Given the description of an element on the screen output the (x, y) to click on. 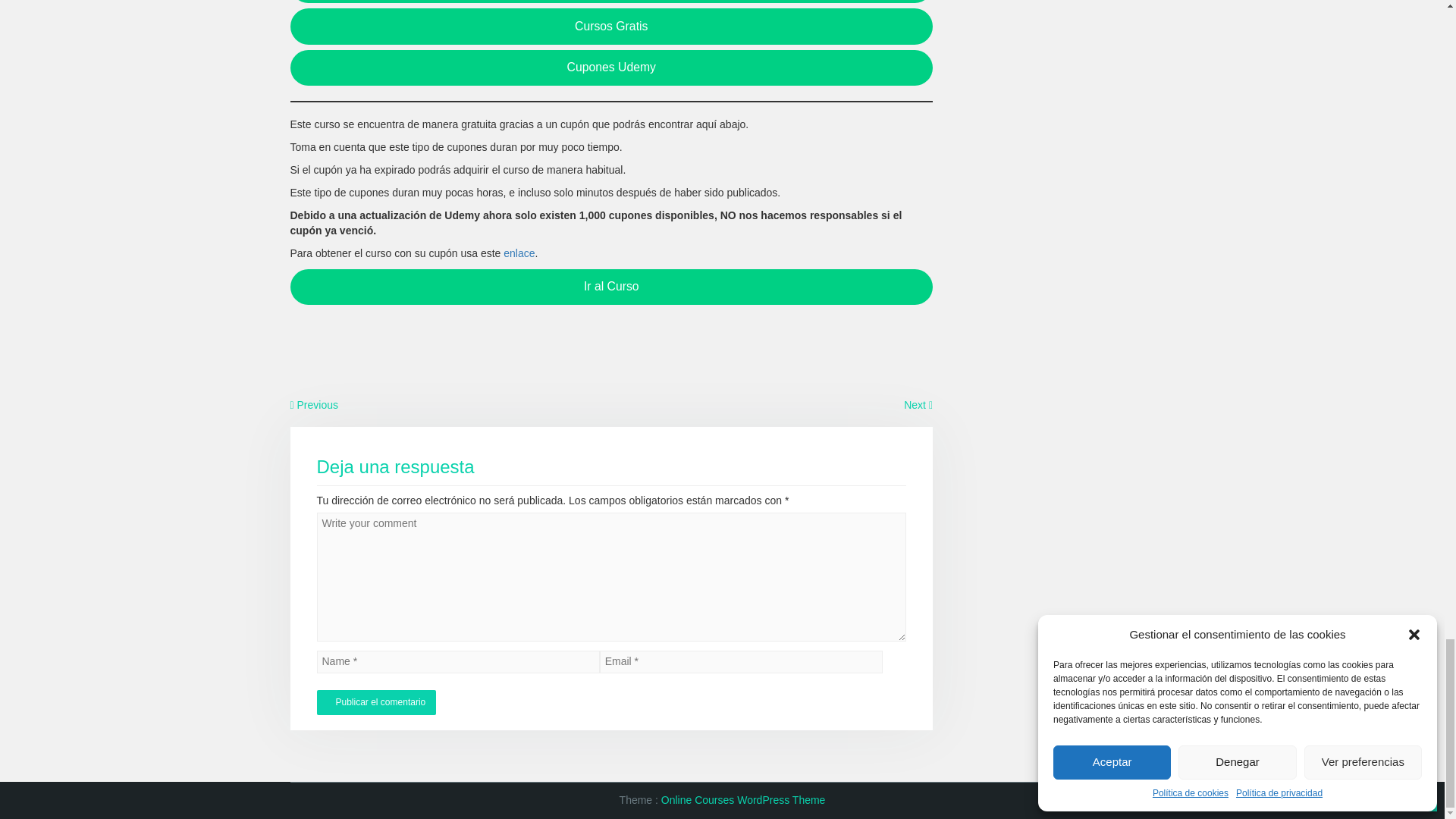
Ir al Curso (611, 286)
Cursos Gratis (611, 26)
Previous (313, 404)
Online Courses WordPress Theme (743, 799)
Publicar el comentario (376, 702)
Publicar el comentario (376, 702)
enlace (518, 253)
Next (918, 404)
Cupones Udemy (611, 67)
